Given the description of an element on the screen output the (x, y) to click on. 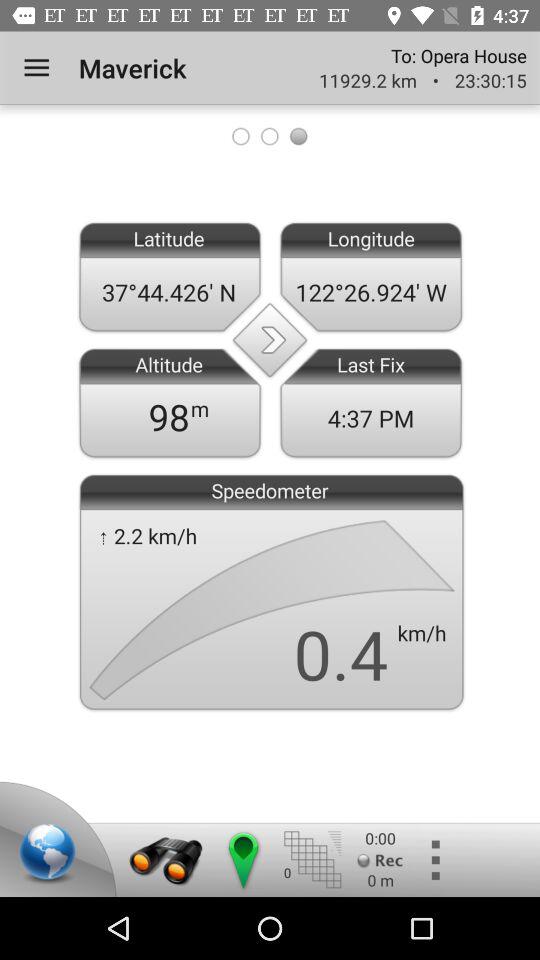
press the app to the left of maverick icon (36, 68)
